Given the description of an element on the screen output the (x, y) to click on. 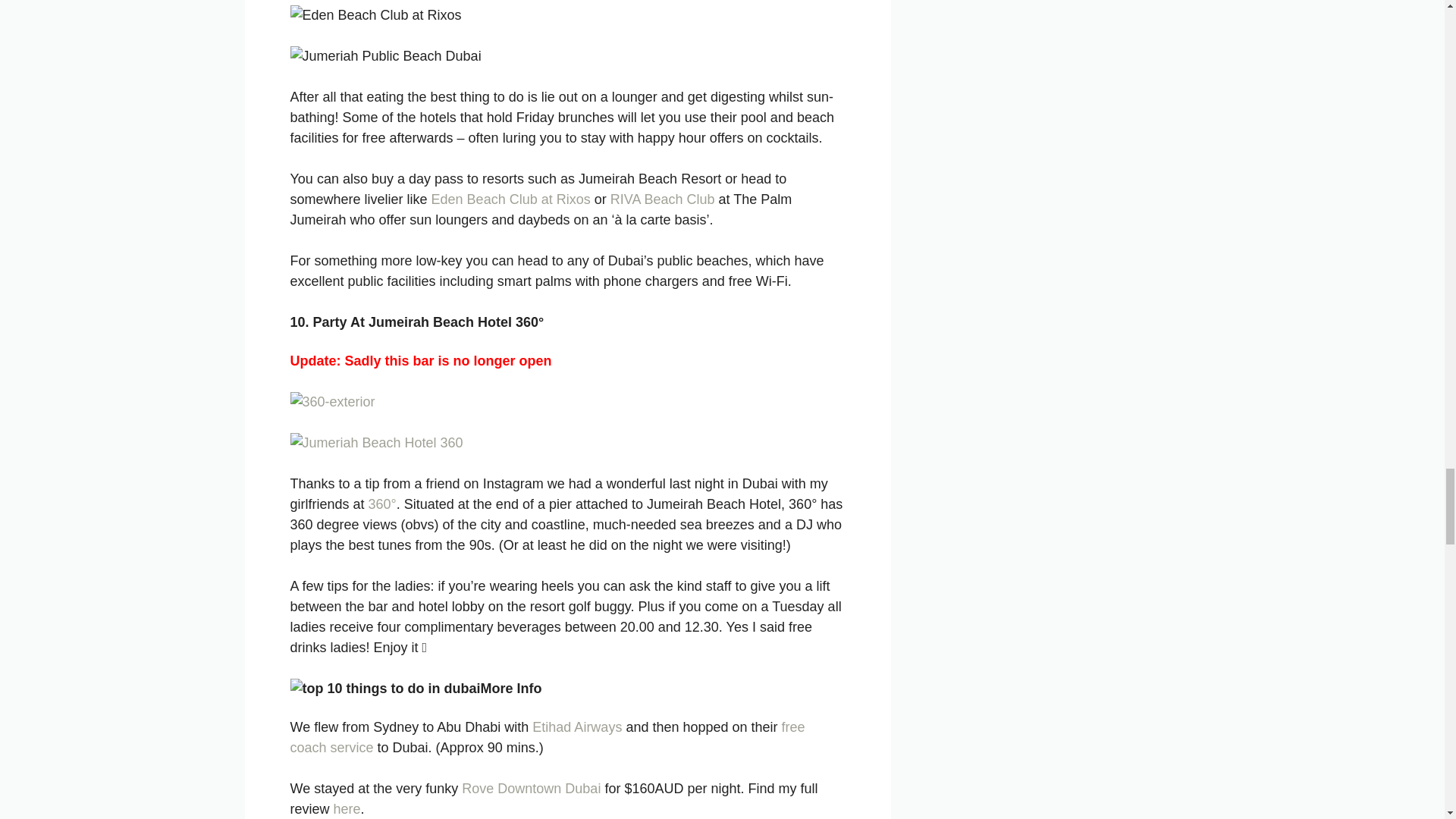
Eden Beach Club at Rixos (510, 199)
Etihad Airways (576, 726)
RIVA Beach Club (662, 199)
